Given the description of an element on the screen output the (x, y) to click on. 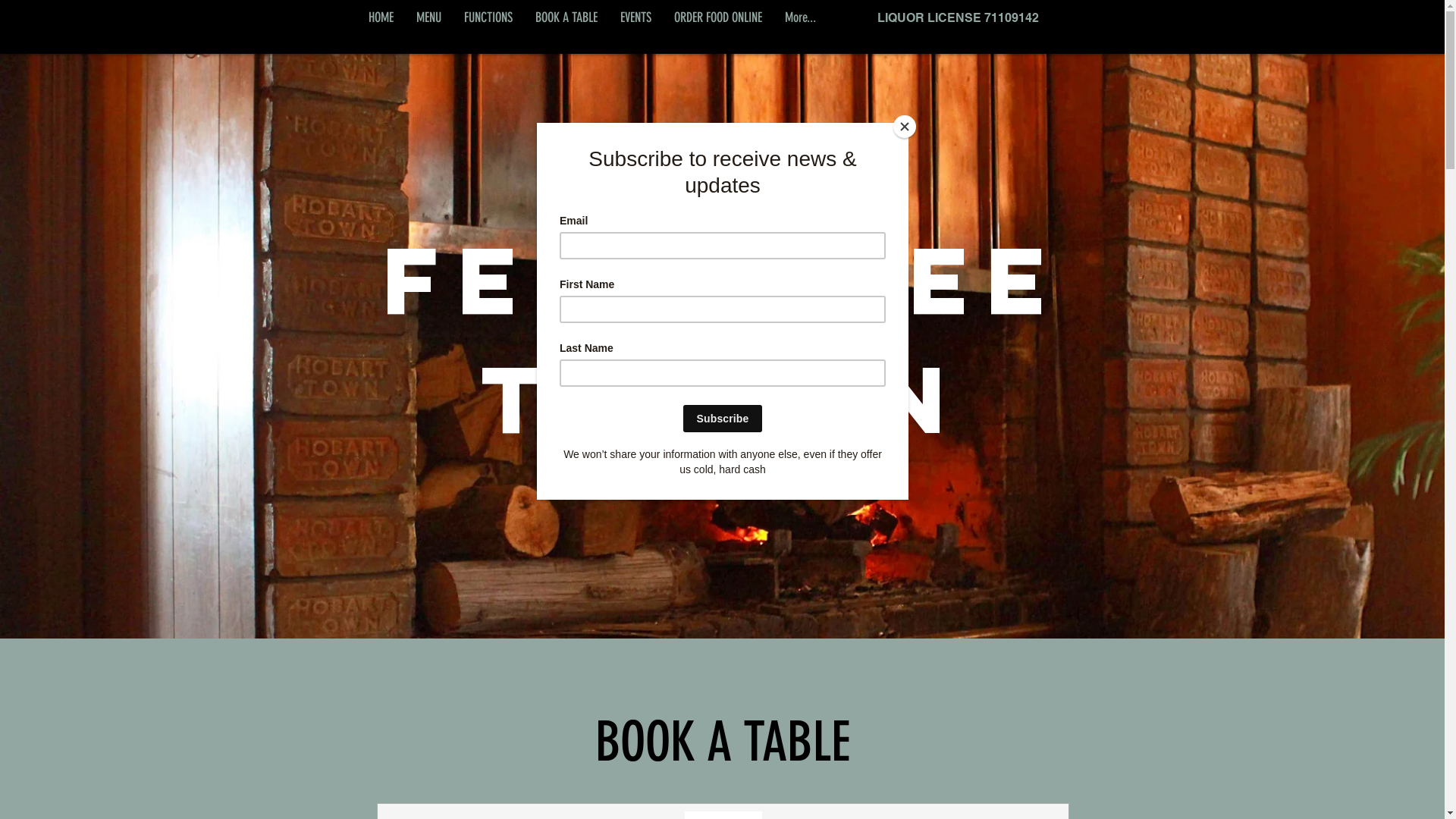
ORDER FOOD ONLINE Element type: text (717, 17)
BOOK A TABLE Element type: text (565, 17)
EVENTS Element type: text (635, 17)
MENU Element type: text (428, 17)
FUNCTIONS Element type: text (487, 17)
HOME Element type: text (380, 17)
